Given the description of an element on the screen output the (x, y) to click on. 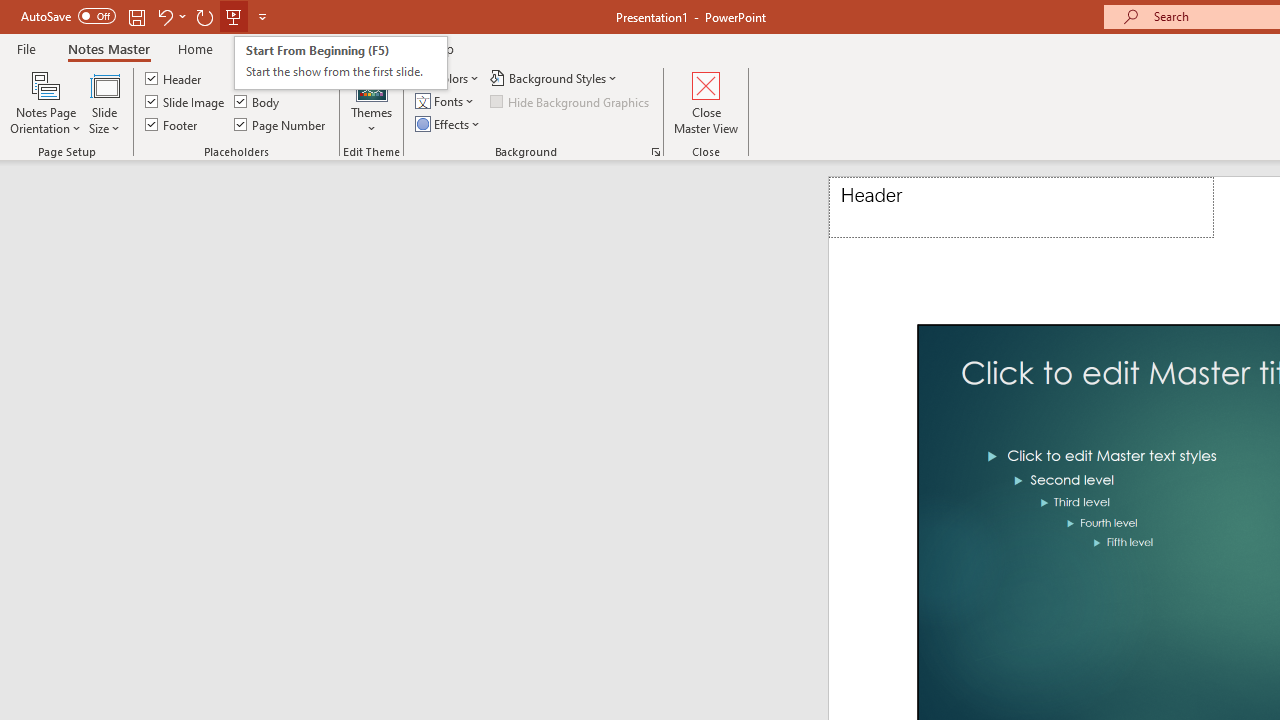
Effects (449, 124)
Page Number (280, 124)
Notes Page Orientation (45, 102)
Themes (372, 102)
